Given the description of an element on the screen output the (x, y) to click on. 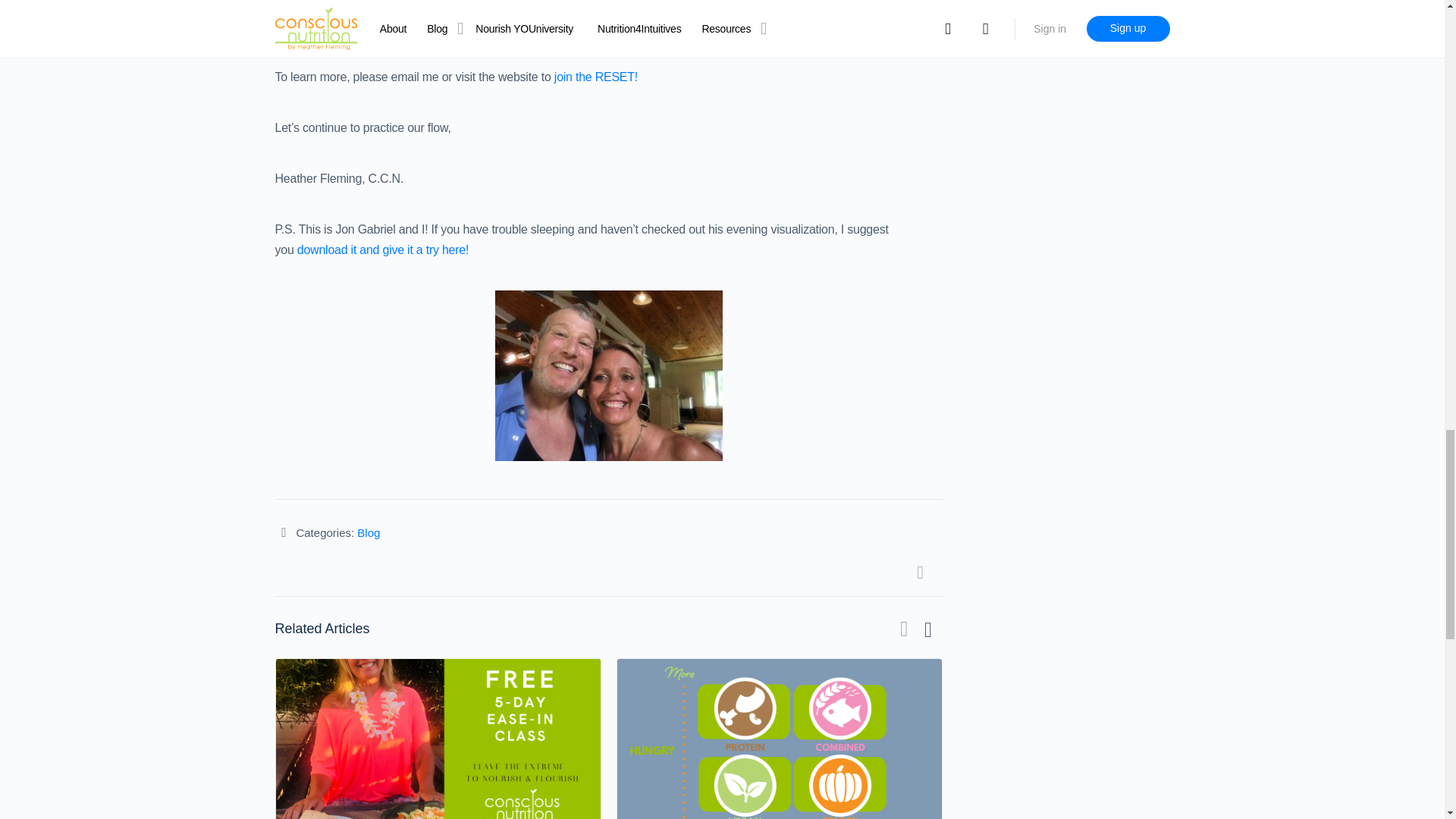
Permalink to Try timing your favorite foods (779, 739)
